Given the description of an element on the screen output the (x, y) to click on. 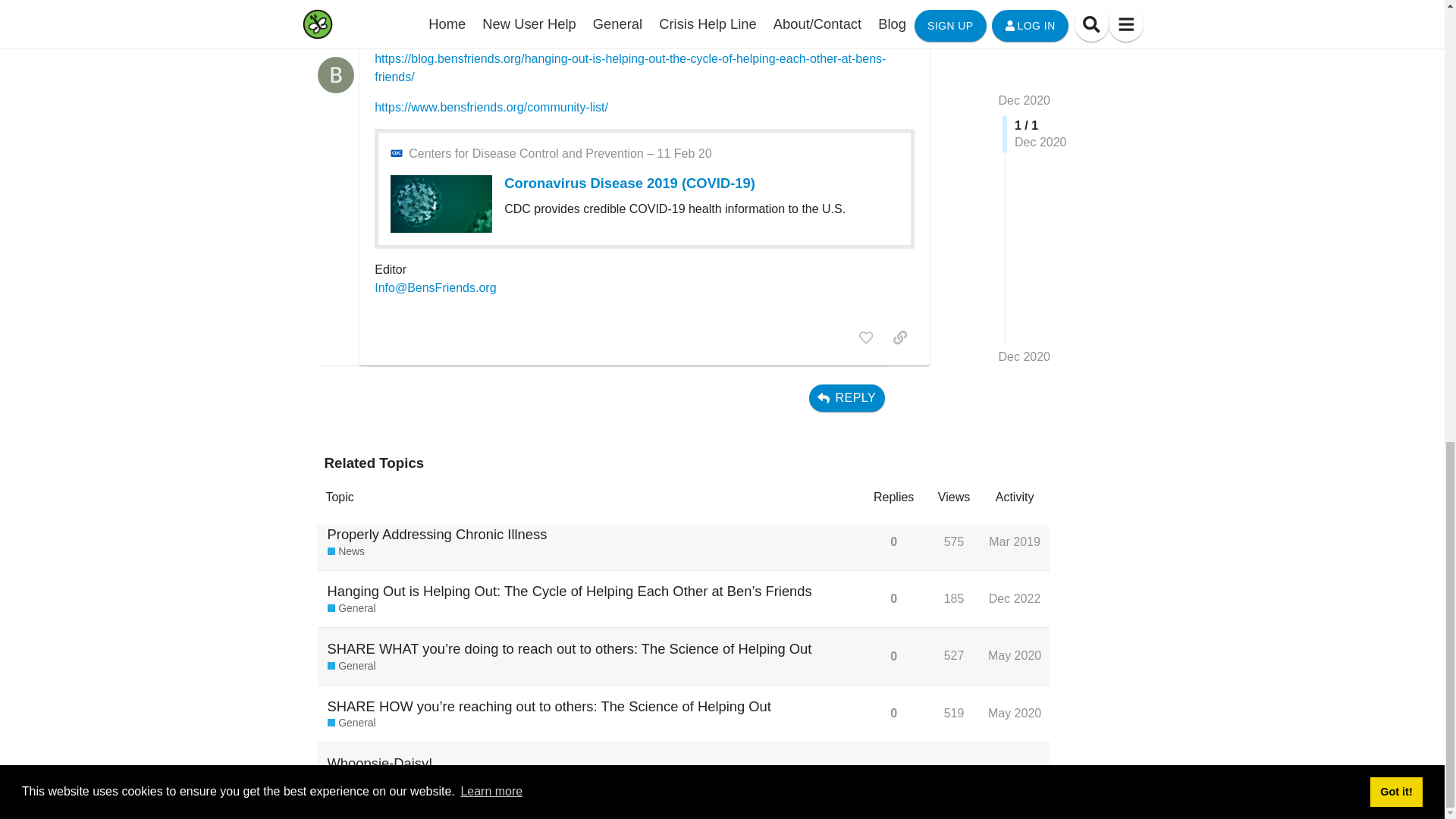
12:00AM - 11 February 2020 (560, 153)
copy a link to this post to clipboard (899, 337)
REPLY (847, 397)
this topic has been viewed 575 times (953, 541)
News from Bens Friends (346, 550)
Properly Addressing Chronic Illness (437, 534)
like this post (865, 337)
News (346, 550)
